Given the description of an element on the screen output the (x, y) to click on. 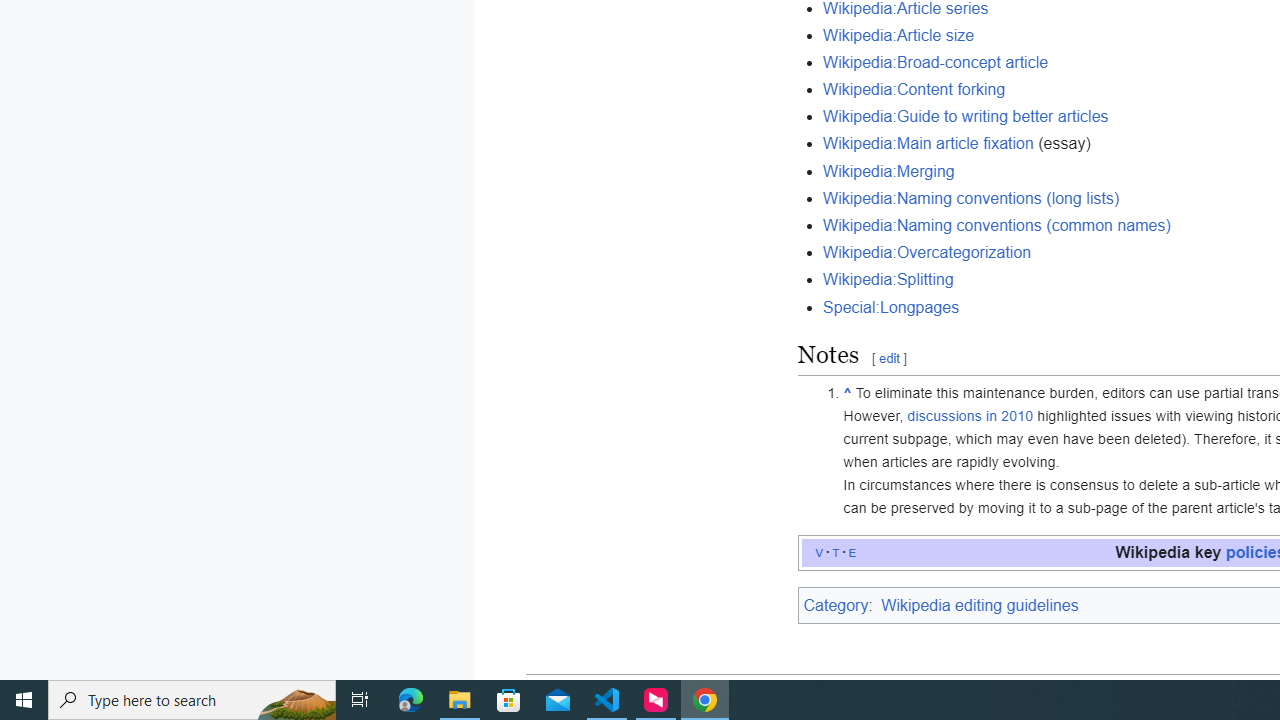
Wikipedia:Article size (899, 34)
Wikipedia:Content forking (914, 89)
Wikipedia:Broad-concept article (936, 62)
Wikipedia editing guidelines (979, 605)
Wikipedia:Main article fixation (928, 143)
Category (835, 605)
Wikipedia:Merging (888, 171)
Wikipedia:Guide to writing better articles (965, 116)
edit (888, 359)
t (835, 552)
e (852, 552)
Special:Longpages (891, 307)
Wikipedia:Overcategorization (927, 253)
Wikipedia:Splitting (888, 279)
